Given the description of an element on the screen output the (x, y) to click on. 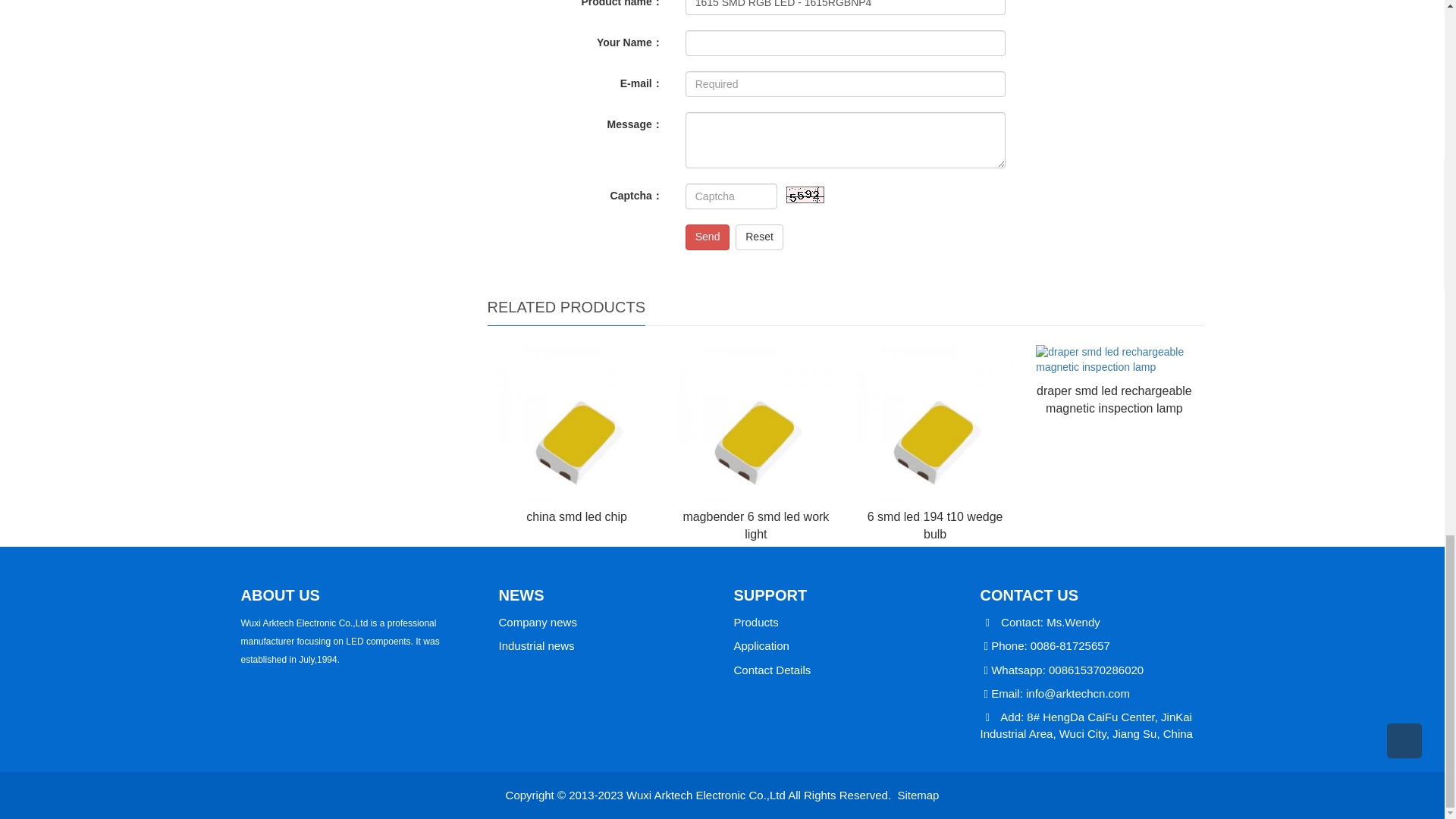
1615 SMD RGB LED - 1615RGBNP4 (845, 7)
china smd led chip (576, 516)
6 smd led 194 t10 wedge bulb (935, 525)
magbender 6 smd led work light (755, 525)
draper smd led rechargeable magnetic inspection lamp (1114, 399)
